Given the description of an element on the screen output the (x, y) to click on. 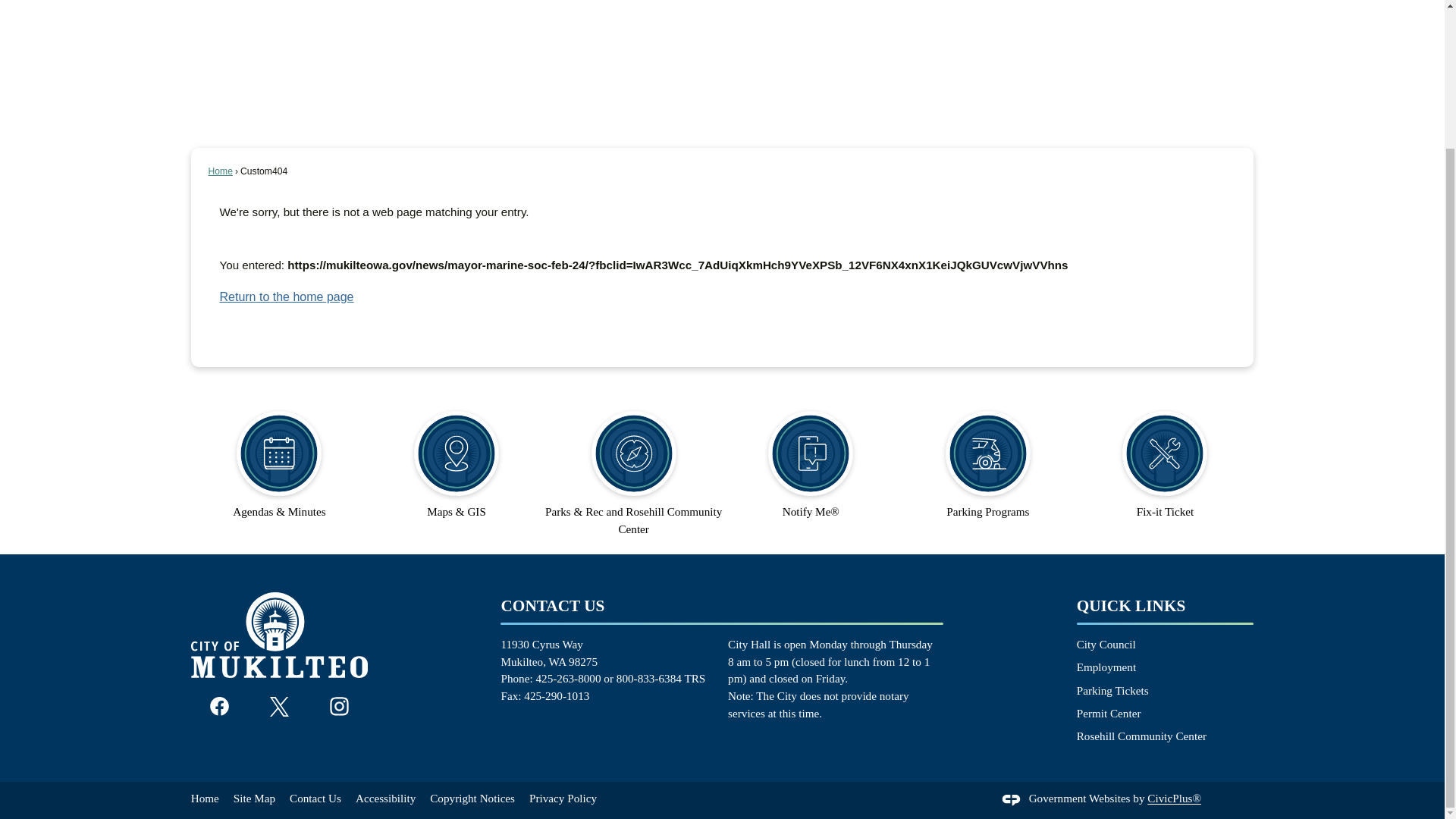
Parking Tickets (1112, 689)
Parking Programs (988, 456)
425-263-8000 (567, 677)
Employment (1106, 666)
Site Map (253, 797)
City Council (1106, 644)
Copyright Notices (472, 797)
Return to the home page (286, 296)
Accessibility (384, 797)
Permit Center (1109, 712)
QUICK LINKS (1131, 606)
Home (204, 797)
Home (219, 171)
Fix-it Ticket (1165, 456)
Privacy Policy (562, 797)
